Given the description of an element on the screen output the (x, y) to click on. 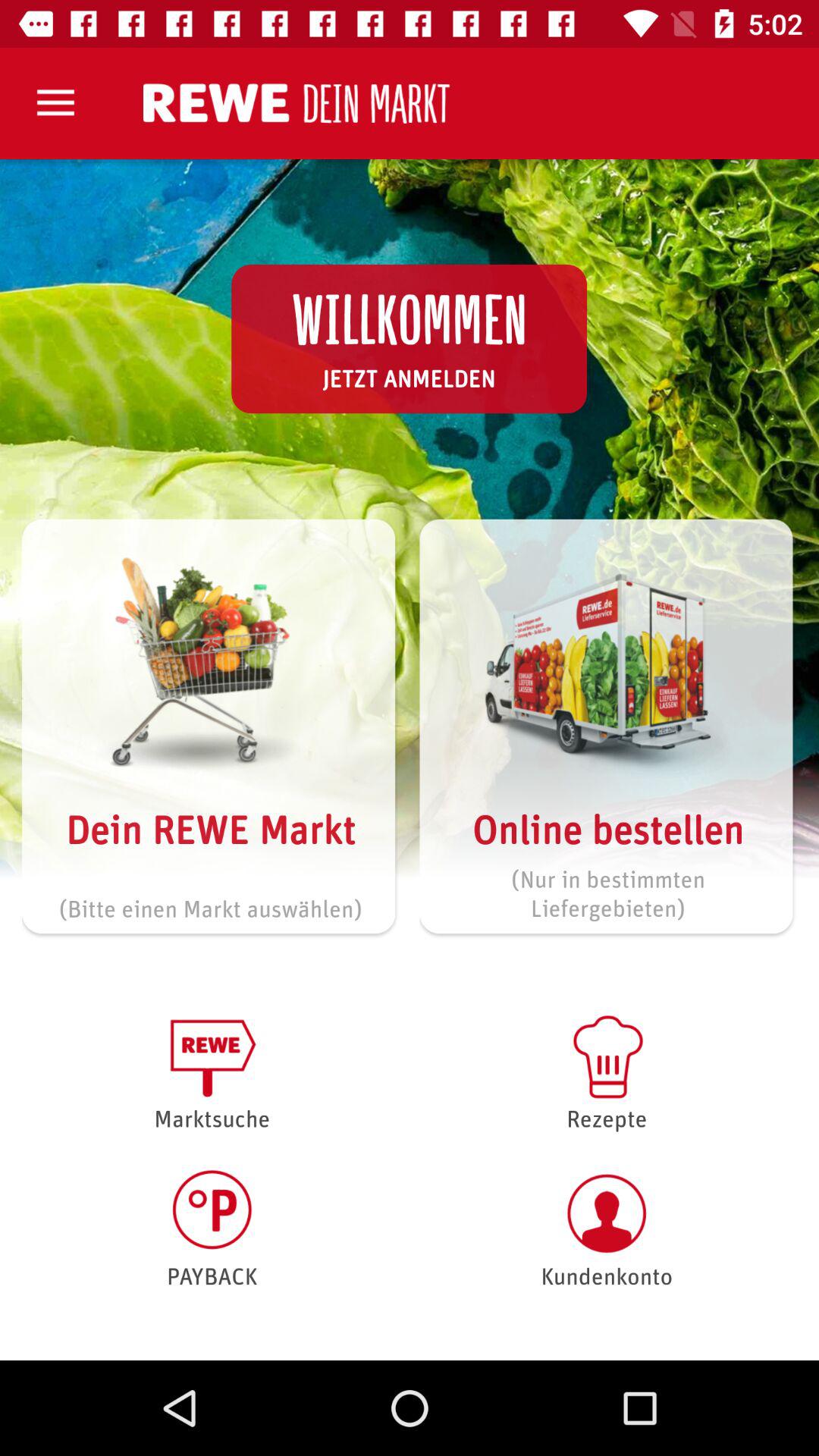
swipe until the rezepte item (606, 1070)
